Given the description of an element on the screen output the (x, y) to click on. 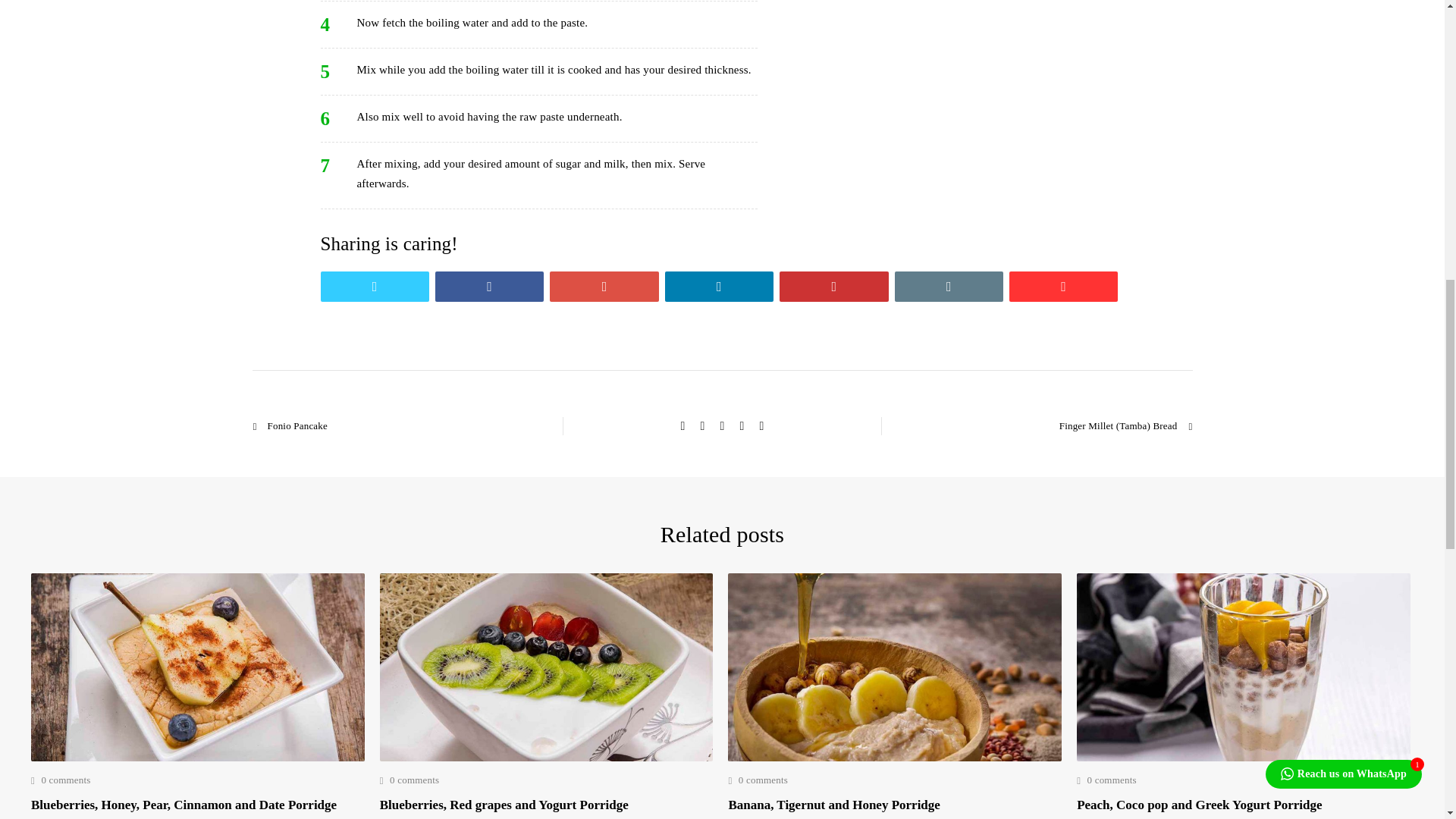
Share on LinkedIn (719, 286)
twitter (374, 286)
Email this (949, 286)
Pin it (833, 286)
Share on twitter (374, 286)
Share on facebook (489, 286)
Reddit (1063, 286)
